Given the description of an element on the screen output the (x, y) to click on. 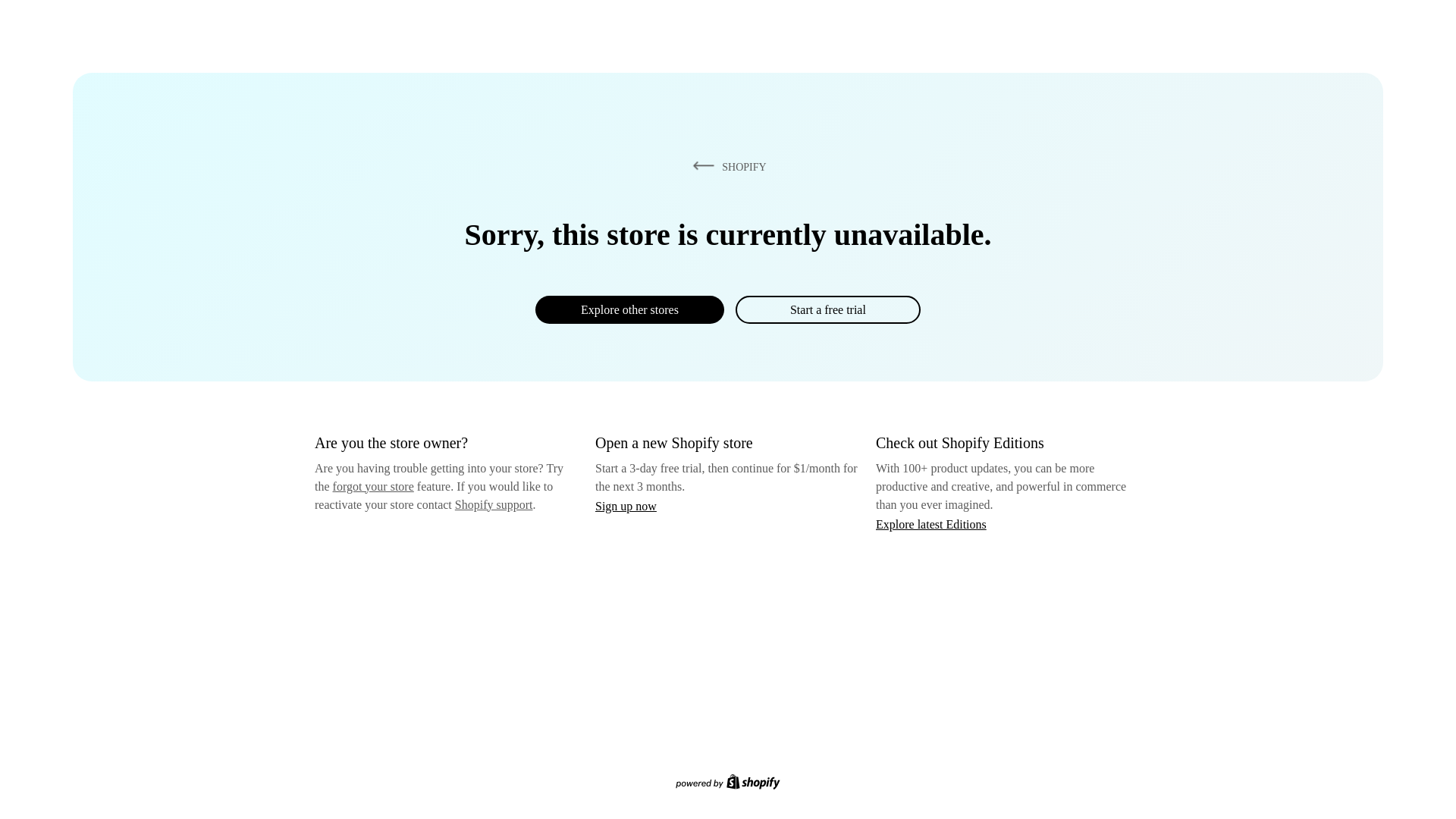
Explore latest Editions (931, 523)
Explore other stores (629, 309)
Start a free trial (827, 309)
SHOPIFY (726, 166)
forgot your store (373, 486)
Shopify support (493, 504)
Sign up now (625, 505)
